Given the description of an element on the screen output the (x, y) to click on. 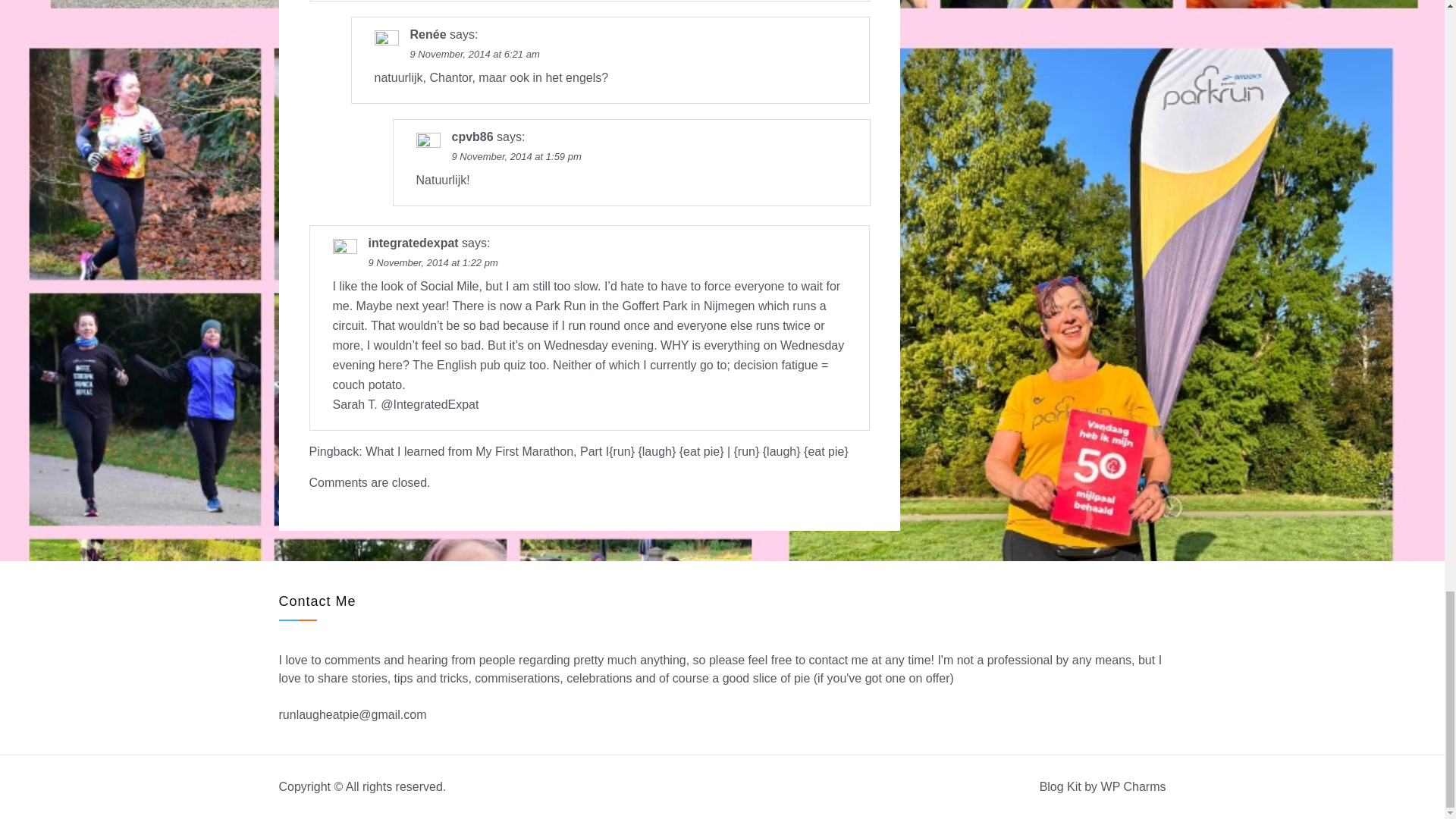
integratedexpat (413, 242)
WP Charms (1133, 786)
9 November, 2014 at 6:21 am (473, 53)
9 November, 2014 at 1:59 pm (515, 156)
9 November, 2014 at 1:22 pm (432, 262)
